Given the description of an element on the screen output the (x, y) to click on. 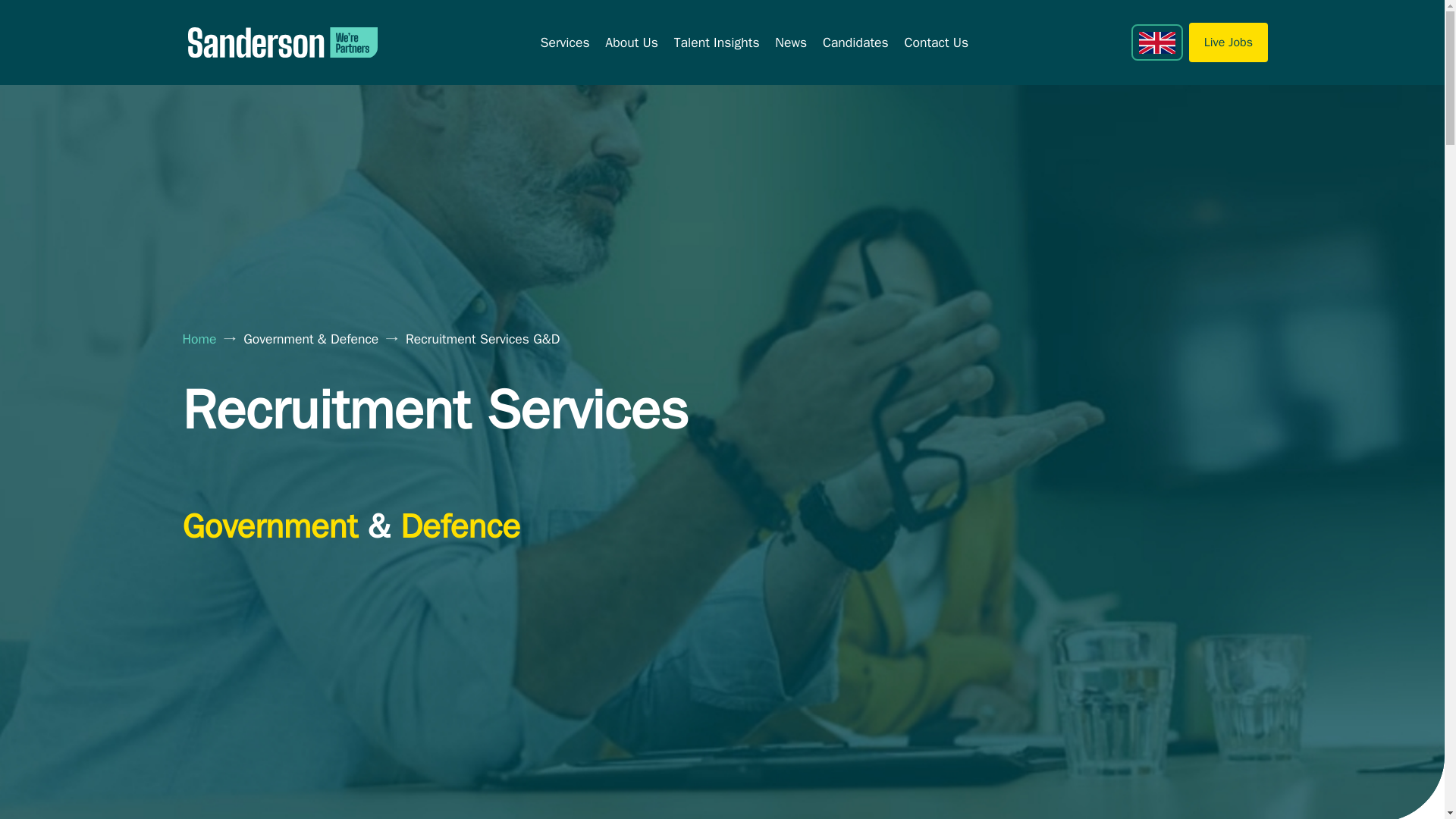
Services (564, 42)
About Us (630, 42)
Talent Insights (716, 42)
Candidates (855, 42)
Contact Us (936, 42)
News (790, 42)
Live Jobs (1228, 42)
